Given the description of an element on the screen output the (x, y) to click on. 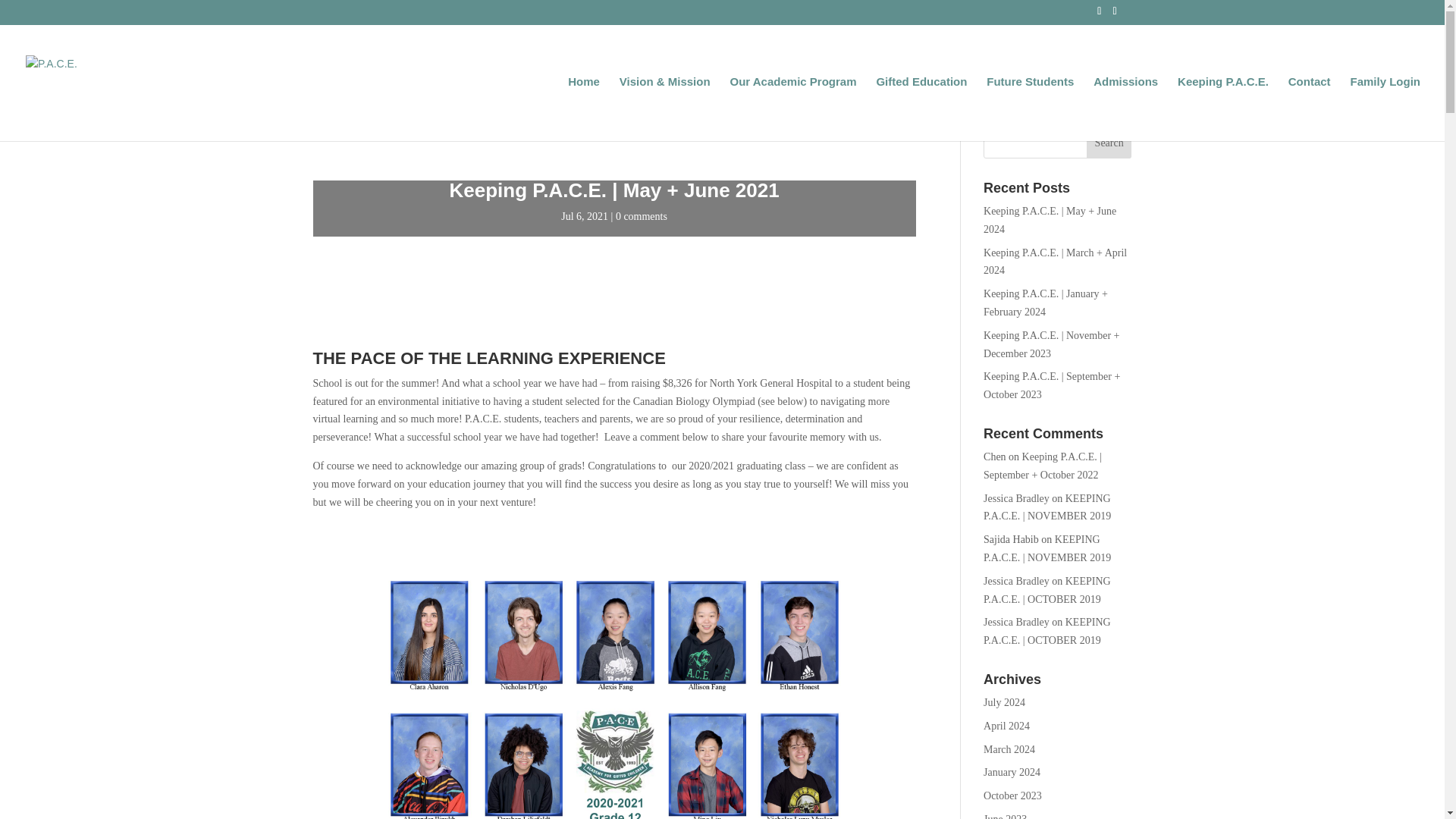
Gifted Education (921, 108)
Future Students (1030, 108)
Family Login (1385, 108)
July 2024 (1004, 702)
March 2024 (1009, 749)
June 2023 (1005, 816)
Jessica Bradley (1016, 622)
Search (1109, 142)
October 2023 (1013, 795)
